Given the description of an element on the screen output the (x, y) to click on. 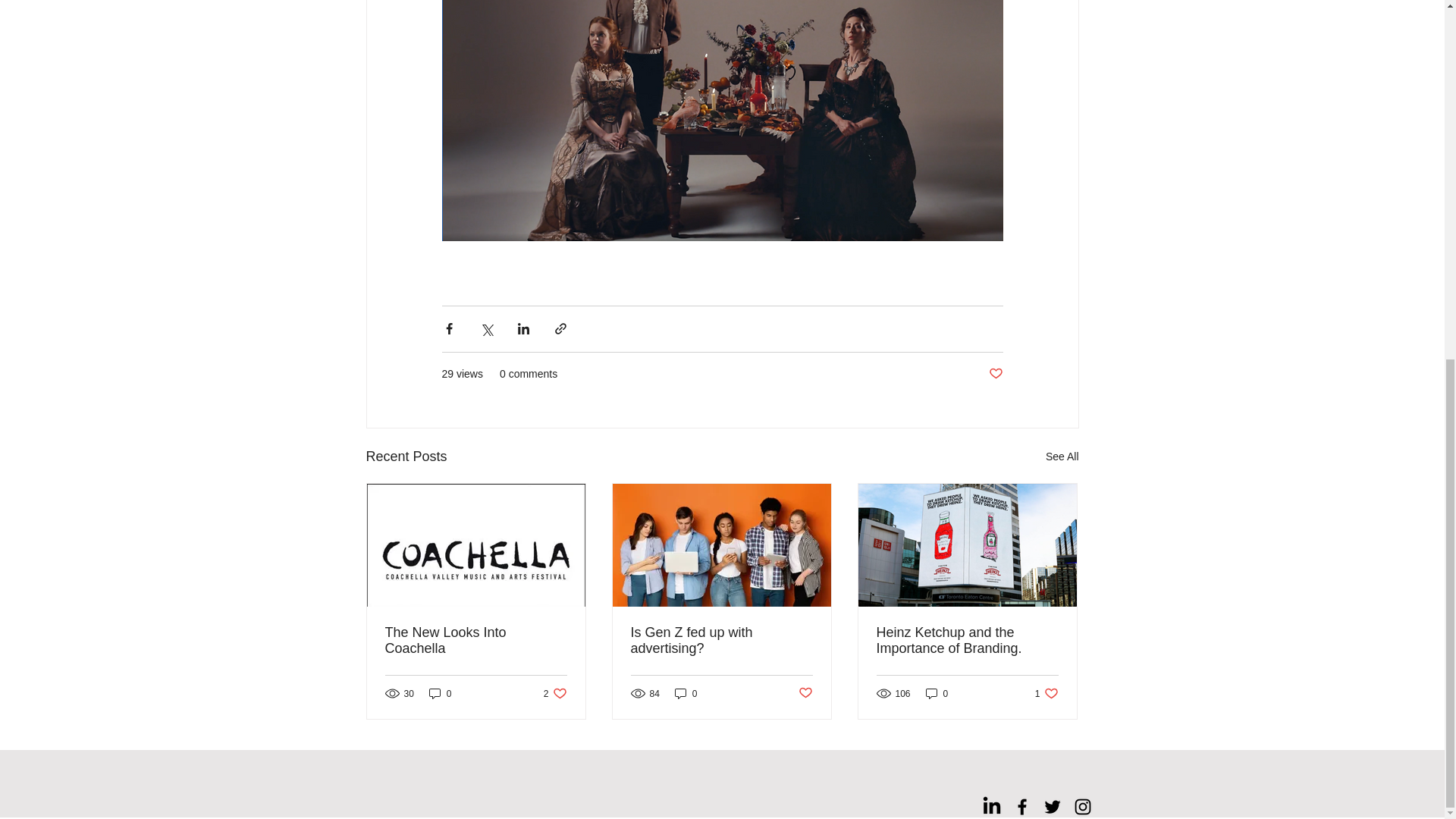
0 (685, 693)
Post not marked as liked (804, 693)
Heinz Ketchup and the Importance of Branding. (967, 640)
0 (937, 693)
See All (1061, 456)
0 (440, 693)
Post not marked as liked (1046, 693)
The New Looks Into Coachella (995, 374)
Is Gen Z fed up with advertising? (476, 640)
